Given the description of an element on the screen output the (x, y) to click on. 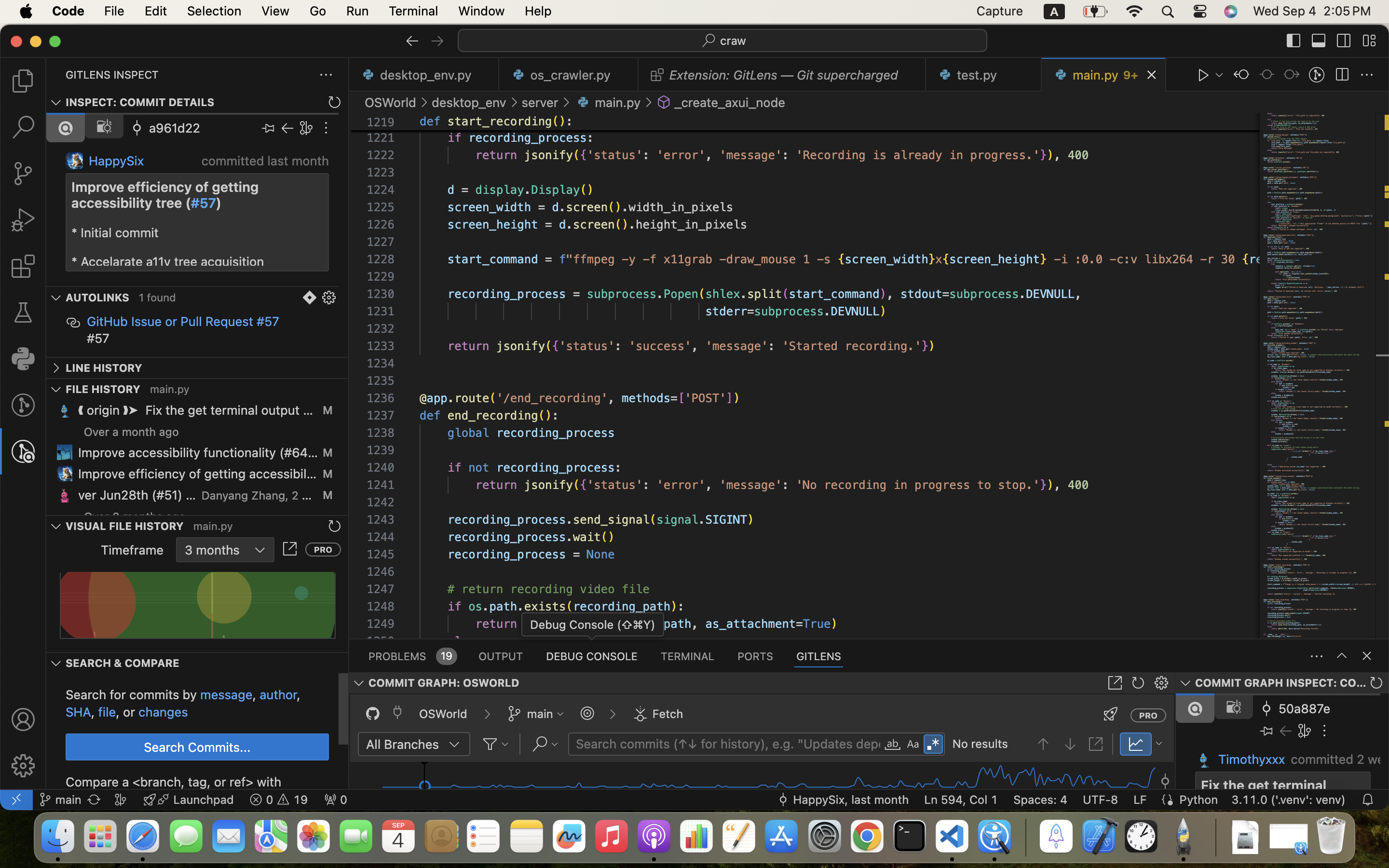
server Element type: AXGroup (539, 101)
0  Element type: AXRadioButton (23, 80)
 Element type: AXCheckBox (1318, 40)
0 OUTPUT Element type: AXRadioButton (500, 655)
last month Element type: AXStaticText (297, 160)
